Given the description of an element on the screen output the (x, y) to click on. 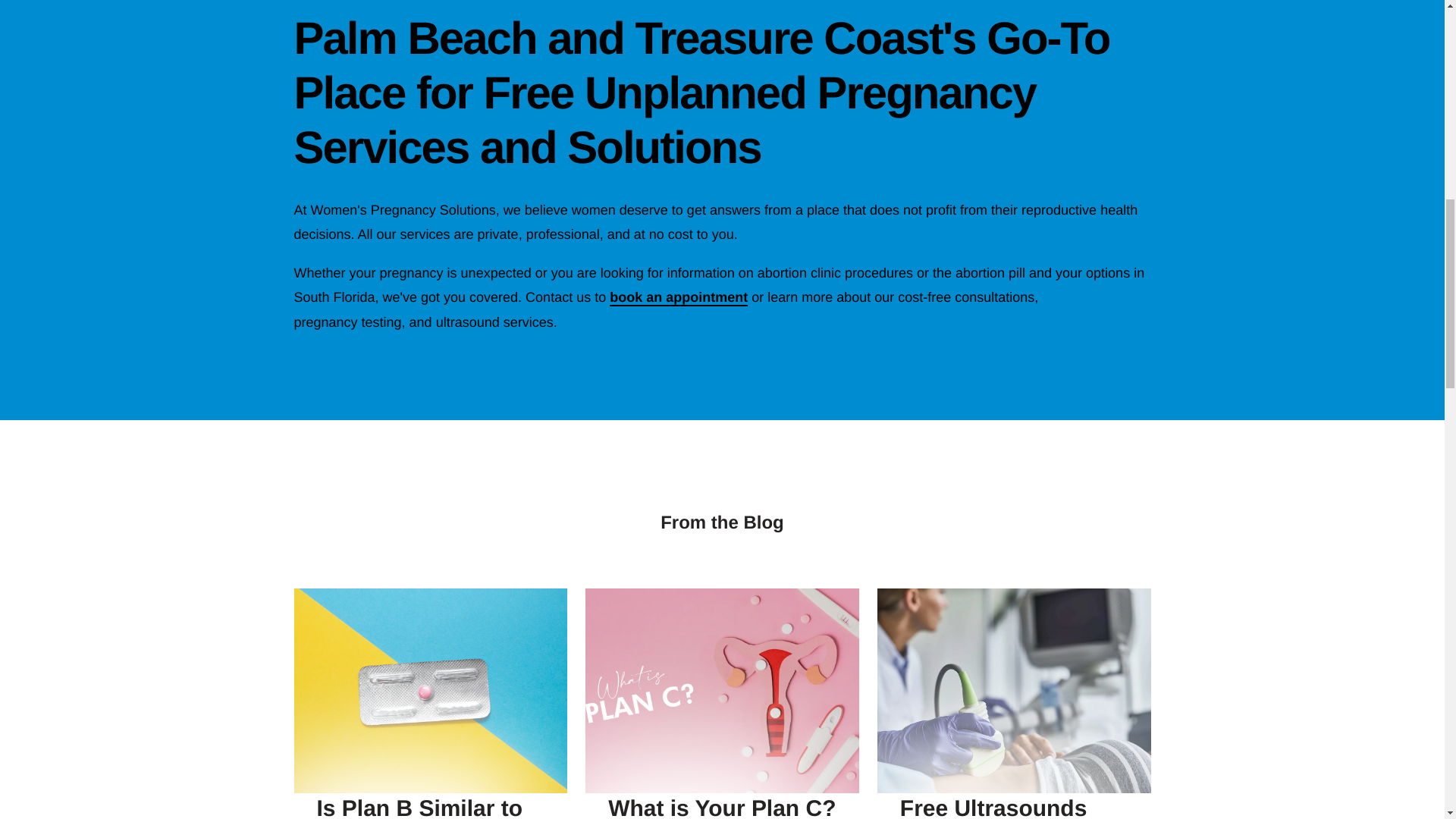
Is Plan B Similar to the Abortion Pill? (419, 807)
Free Ultrasounds (992, 807)
book an appointment (679, 297)
